Given the description of an element on the screen output the (x, y) to click on. 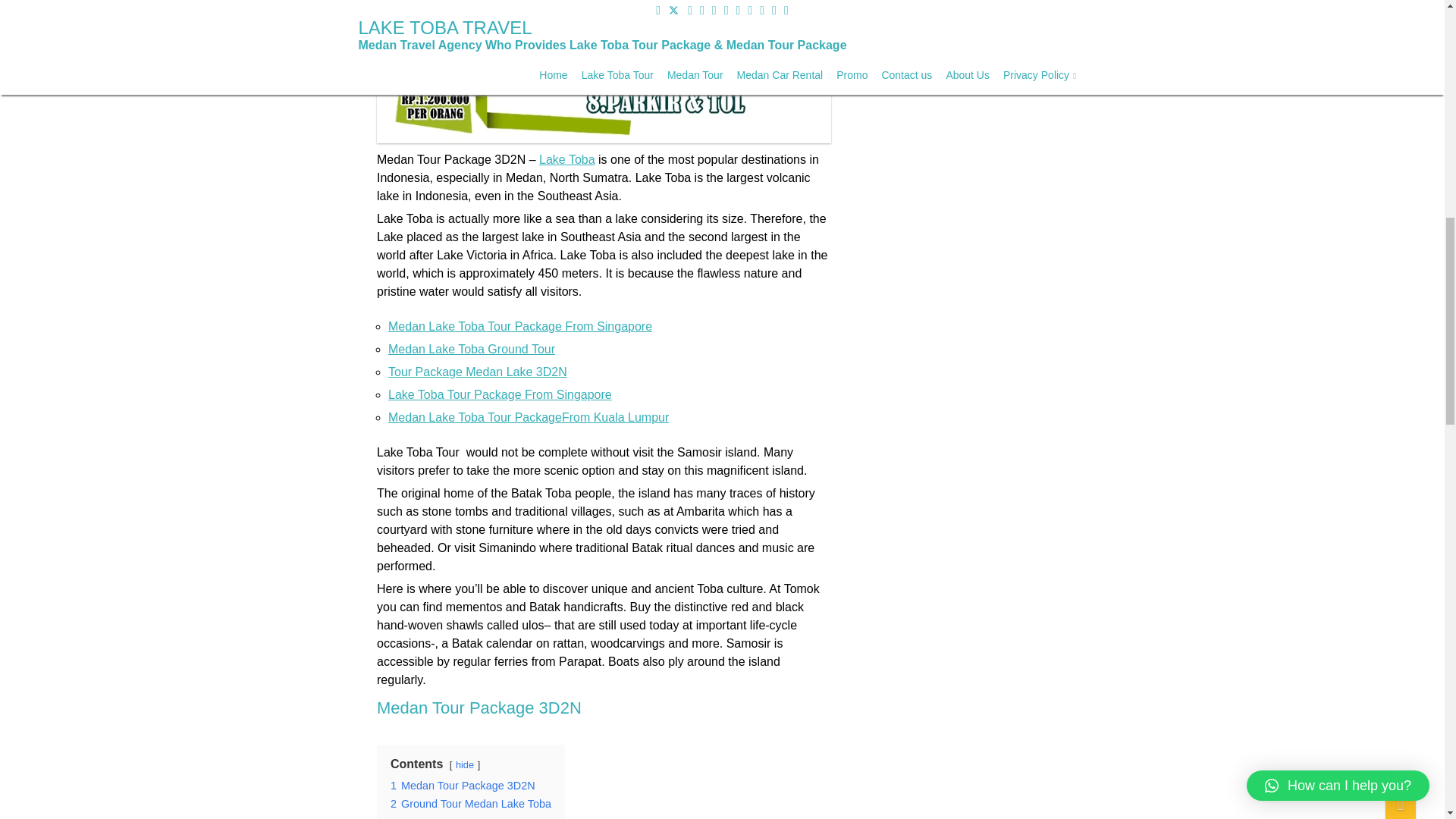
1 Medan Tour Package 3D2N (462, 785)
Medan Lake Toba Tour Package From Singapore (520, 326)
Lake Toba Tour Package From Singapore (499, 394)
hide (463, 764)
Tour Package Medan Lake 3D2N (477, 371)
Medan Lake Toba Tour PackageFrom Kuala Lumpur (528, 417)
Medan Lake Toba Ground Tour (471, 349)
Lake Toba (566, 159)
2 Ground Tour Medan Lake Toba (470, 803)
